Given the description of an element on the screen output the (x, y) to click on. 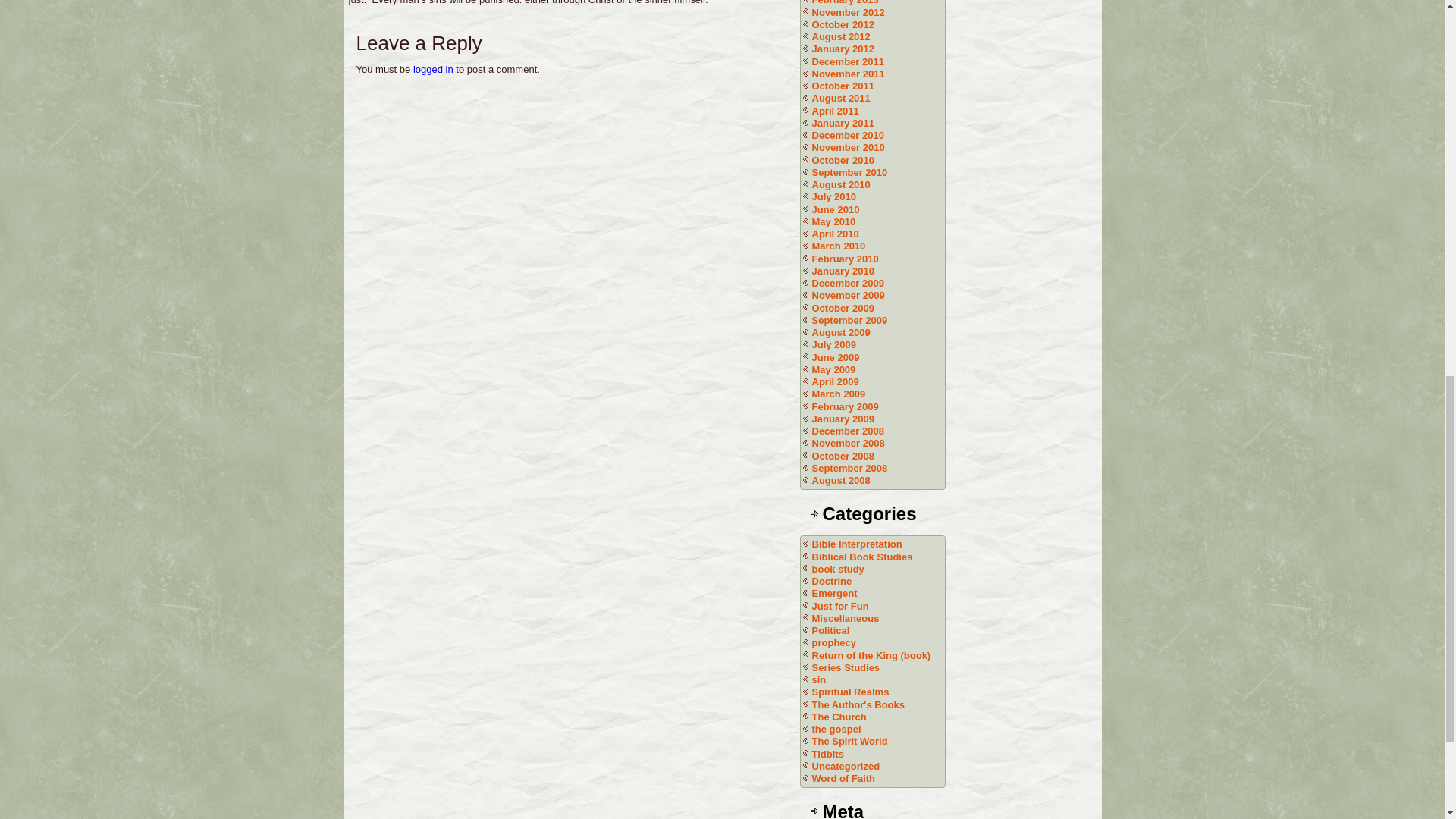
February 2013 (843, 2)
logged in (432, 69)
August 2012 (839, 36)
November 2011 (846, 73)
December 2011 (846, 61)
November 2012 (846, 12)
October 2012 (841, 24)
January 2012 (841, 48)
October 2011 (841, 85)
